Given the description of an element on the screen output the (x, y) to click on. 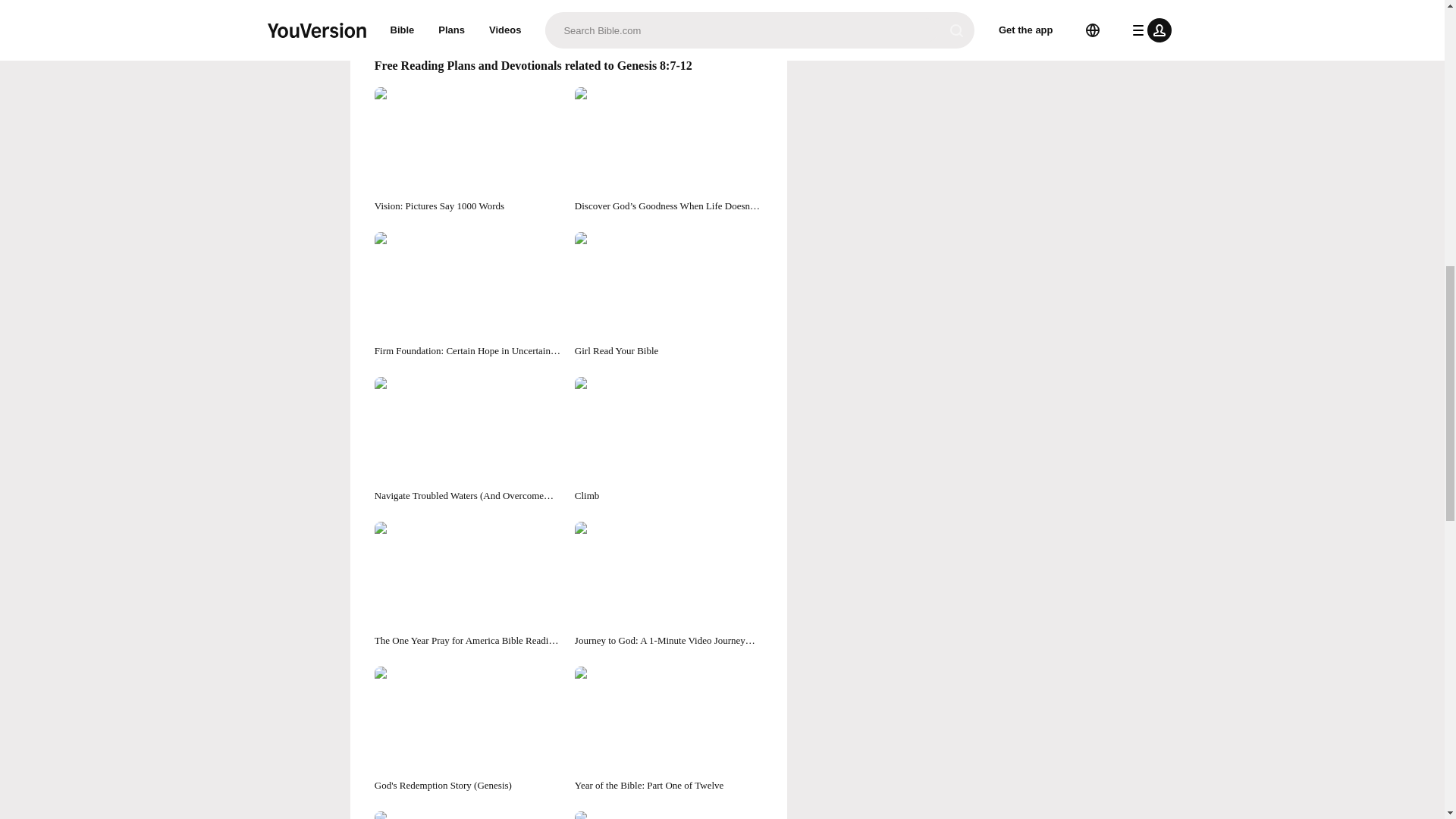
Reading the Bible in Historical Sequence Part 1 (668, 815)
Journey to God: A 1-Minute Video Journey Through the Bible (668, 584)
Year of the Bible: Part One of Twelve (668, 729)
Firm Foundation: Certain Hope in Uncertain Times (468, 294)
Girl Read Your Bible (668, 294)
Climb (668, 439)
The Thread (468, 815)
Vision: Pictures Say 1000 Words (468, 149)
